Given the description of an element on the screen output the (x, y) to click on. 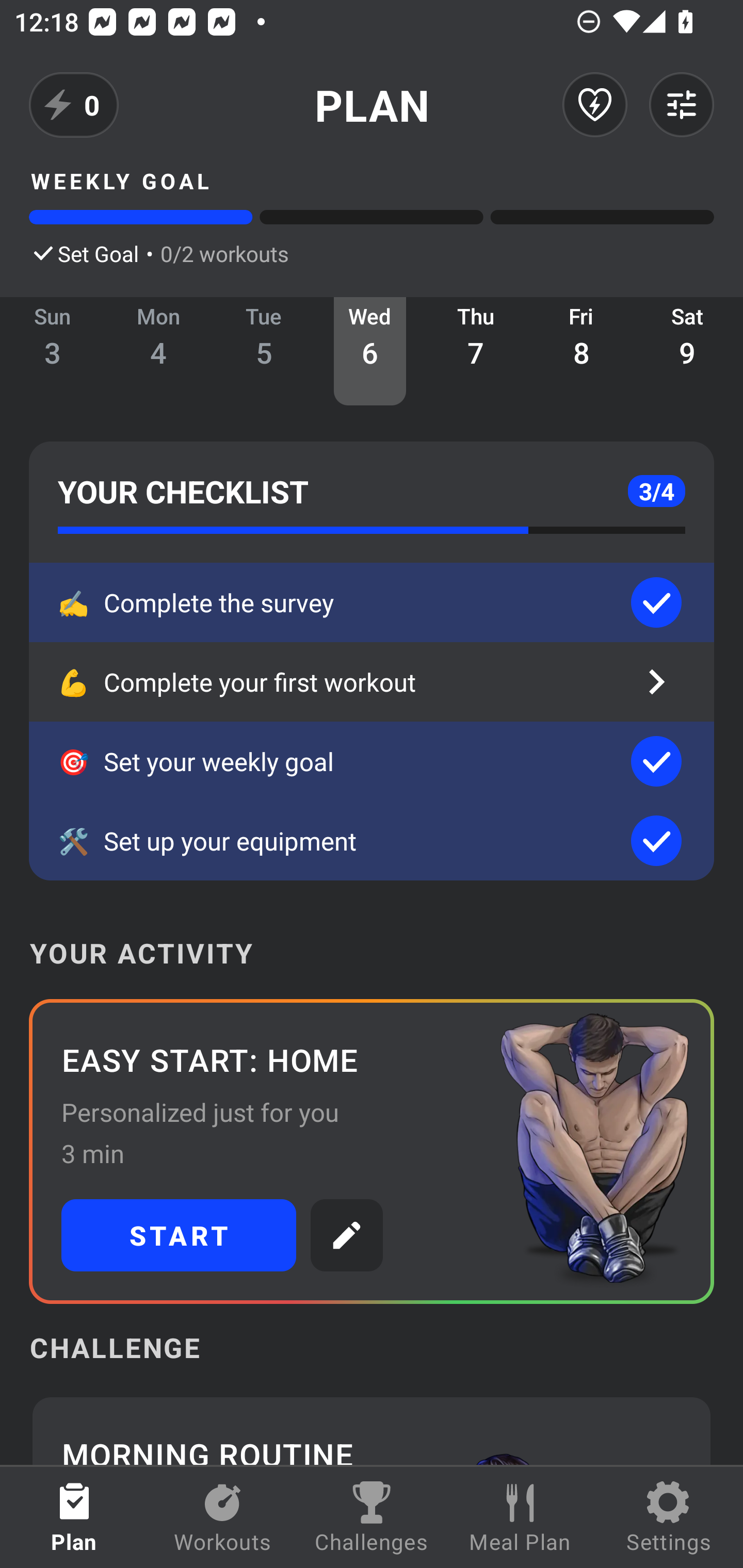
0 (73, 104)
Sun 3 (52, 351)
Mon 4 (158, 351)
Tue 5 (264, 351)
Wed 6 (369, 351)
Thu 7 (475, 351)
Fri 8 (581, 351)
Sat 9 (687, 351)
💪 Complete your first workout (371, 681)
START (178, 1235)
 Workouts  (222, 1517)
 Challenges  (371, 1517)
 Meal Plan  (519, 1517)
 Settings  (668, 1517)
